Given the description of an element on the screen output the (x, y) to click on. 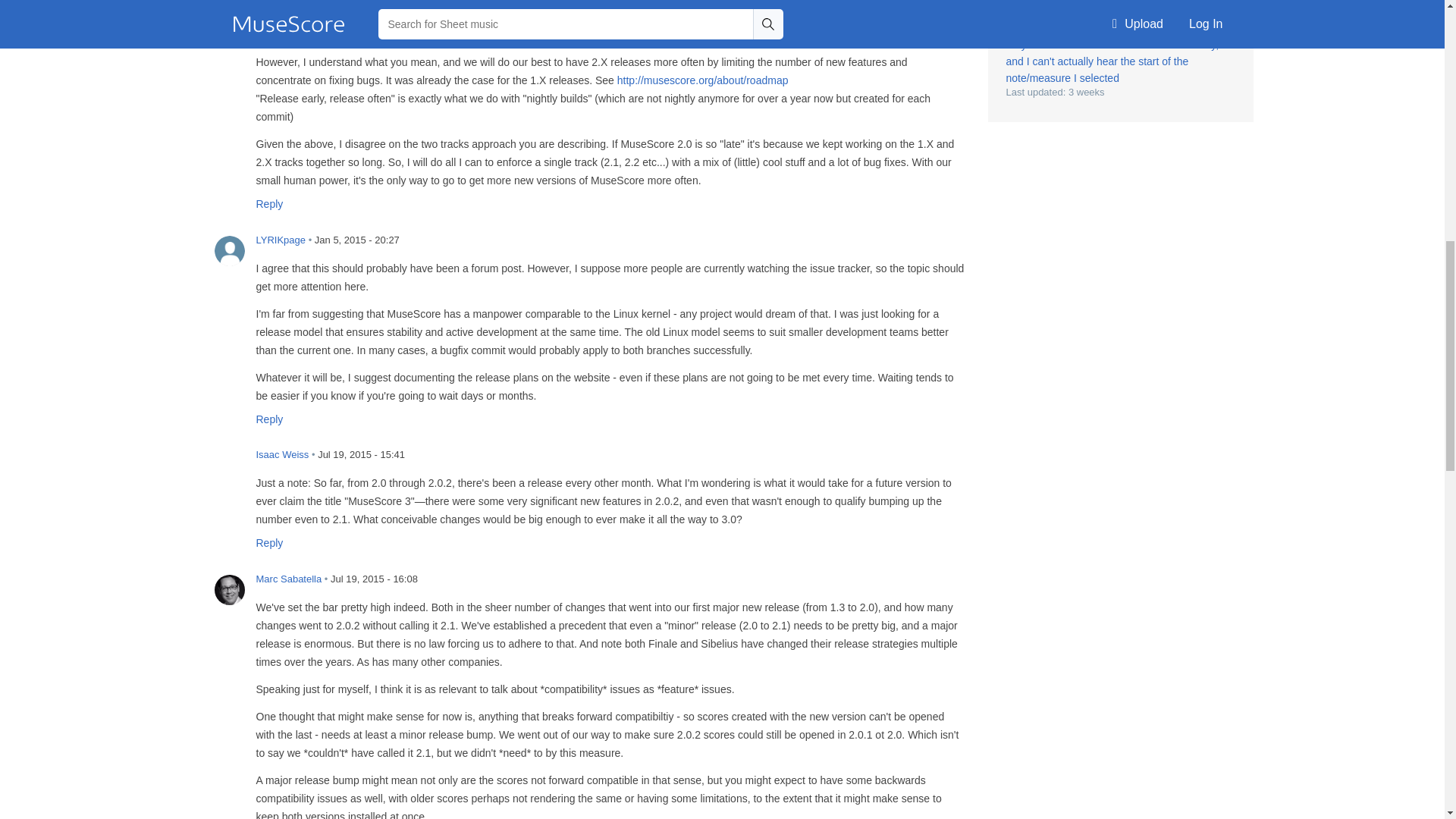
LYRIKpage (229, 250)
Isaac Weiss (229, 465)
Marc Sabatella (229, 589)
